Given the description of an element on the screen output the (x, y) to click on. 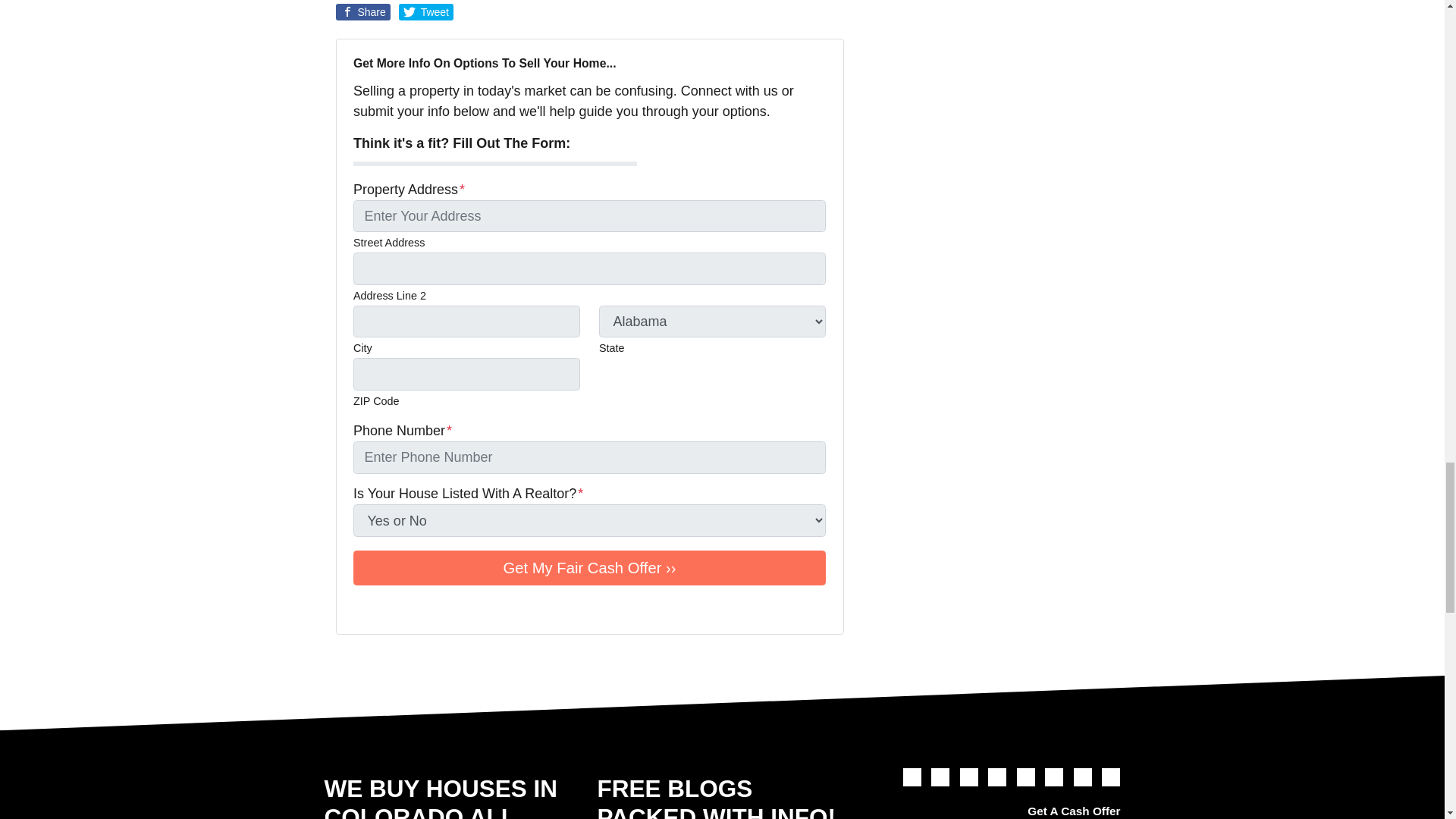
YouTube (968, 777)
YouTube (404, 607)
Facebook (940, 777)
Houzz (510, 607)
Instagram (447, 607)
Pinterest (468, 607)
Share on Twitter (425, 12)
Twitter (362, 607)
Facebook (383, 607)
Twitter (911, 777)
Share on Facebook (362, 12)
Zillow (489, 607)
LinkedIn (425, 607)
Share (362, 12)
Tweet (425, 12)
